Given the description of an element on the screen output the (x, y) to click on. 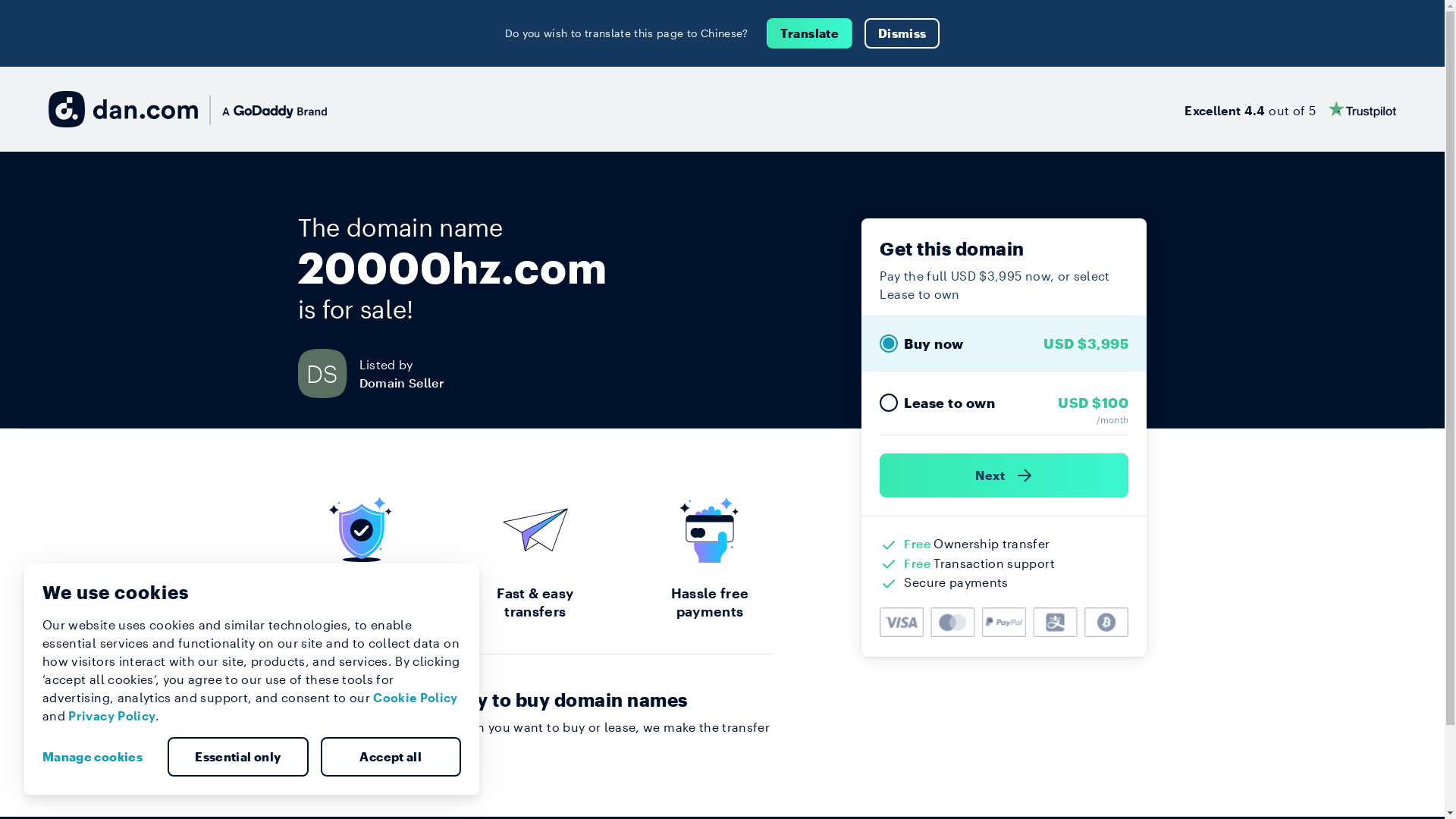
Excellent 4.4 out of 5 Element type: text (1290, 109)
Manage cookies Element type: text (98, 756)
Essential only Element type: text (237, 756)
Dismiss Element type: text (901, 33)
Translate Element type: text (809, 33)
Privacy Policy Element type: text (111, 715)
Cookie Policy Element type: text (415, 697)
Accept all Element type: text (390, 756)
Next
) Element type: text (1003, 475)
